Given the description of an element on the screen output the (x, y) to click on. 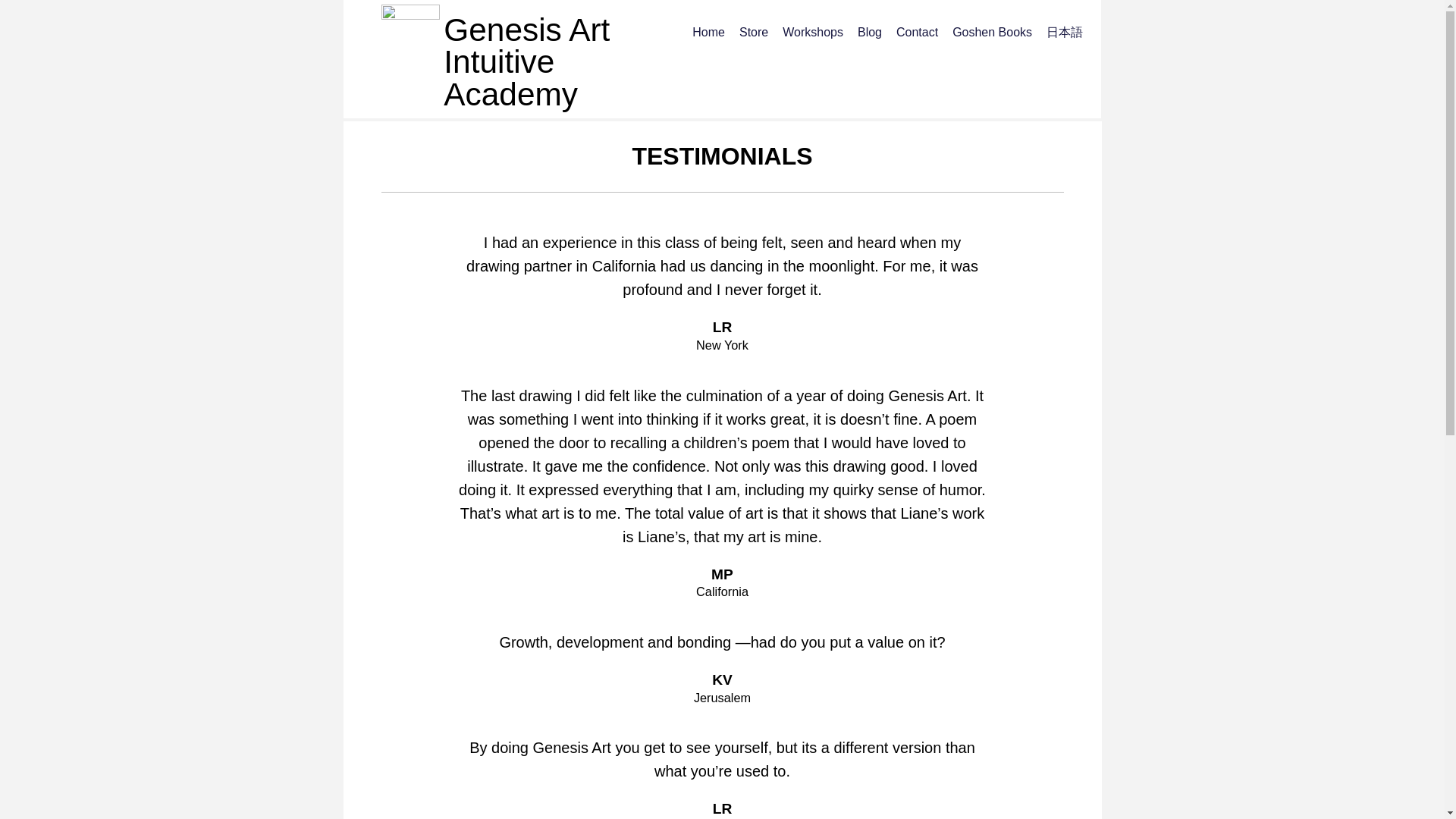
Store (753, 32)
Workshops (813, 32)
Blog (869, 32)
Goshen Books (992, 32)
Home (709, 32)
Genesis Art Intuitive Academy (527, 62)
Contact (916, 32)
